Given the description of an element on the screen output the (x, y) to click on. 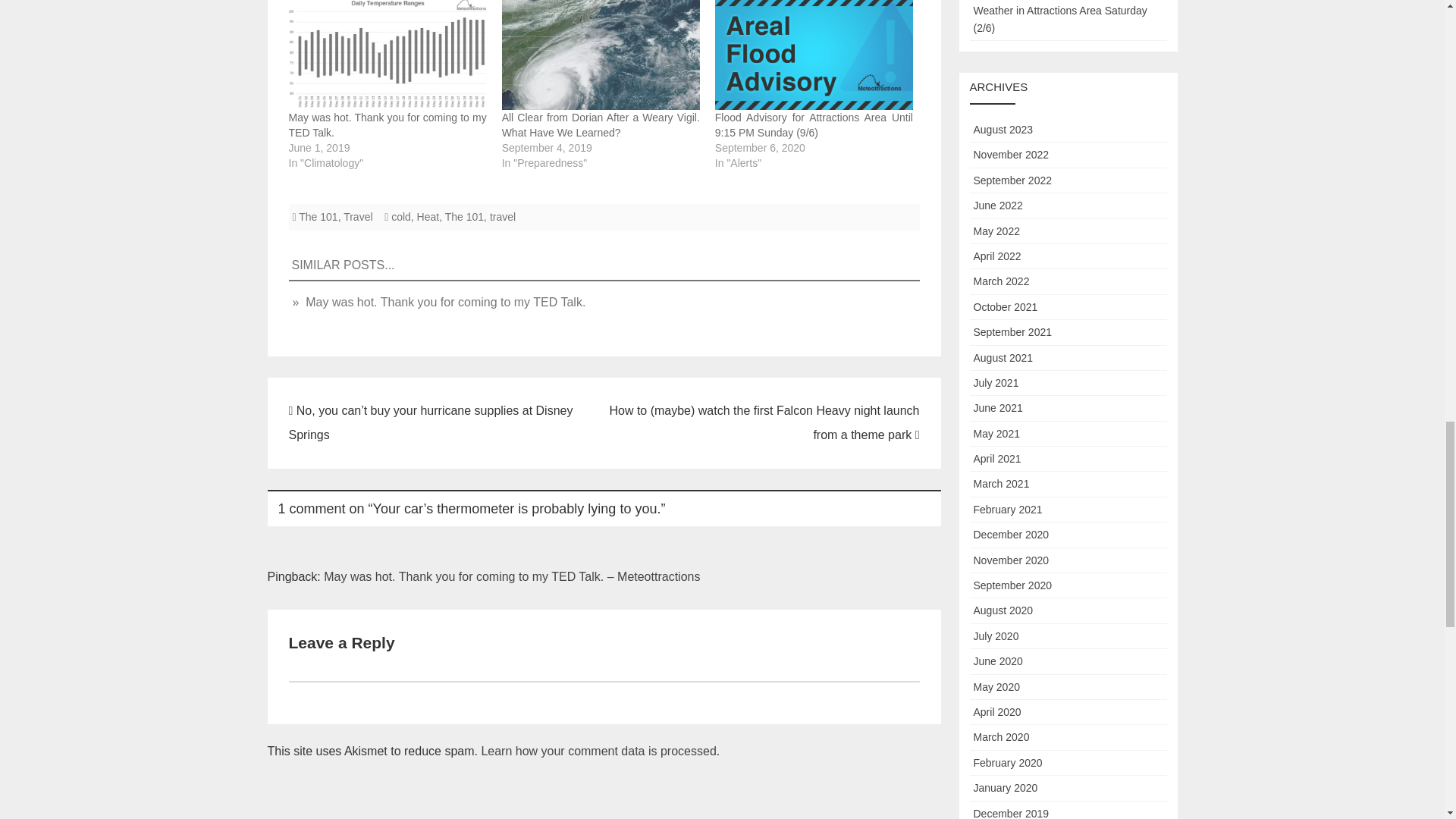
Travel (357, 216)
Heat (427, 216)
The 101 (464, 216)
cold (400, 216)
May was hot. Thank you for coming to my TED Talk. (387, 124)
travel (502, 216)
May was hot.  Thank you for coming to my TED Talk. (387, 54)
The 101 (317, 216)
May was hot.  Thank you for coming to my TED Talk. (387, 124)
